Given the description of an element on the screen output the (x, y) to click on. 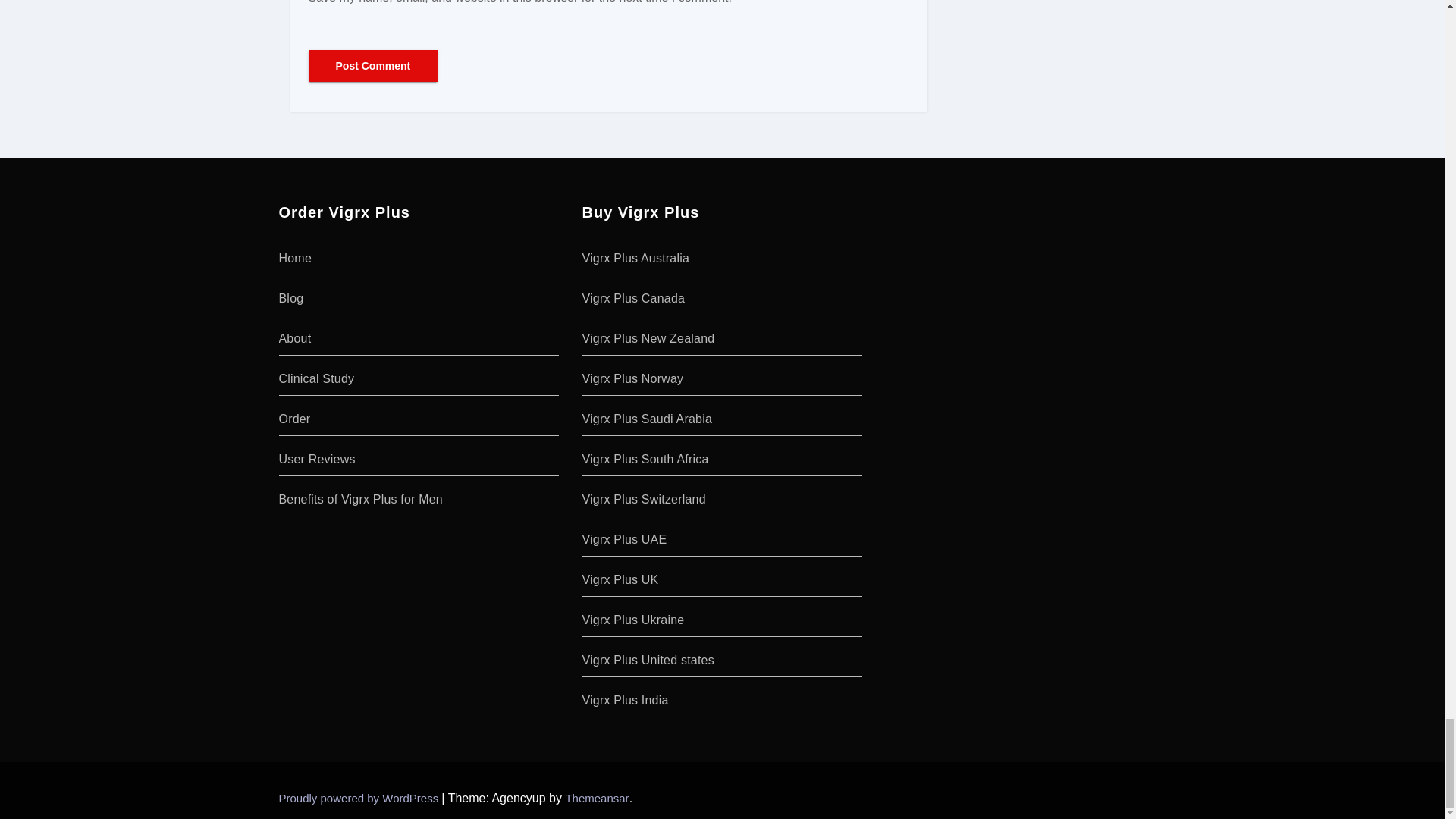
Post Comment (372, 65)
